Given the description of an element on the screen output the (x, y) to click on. 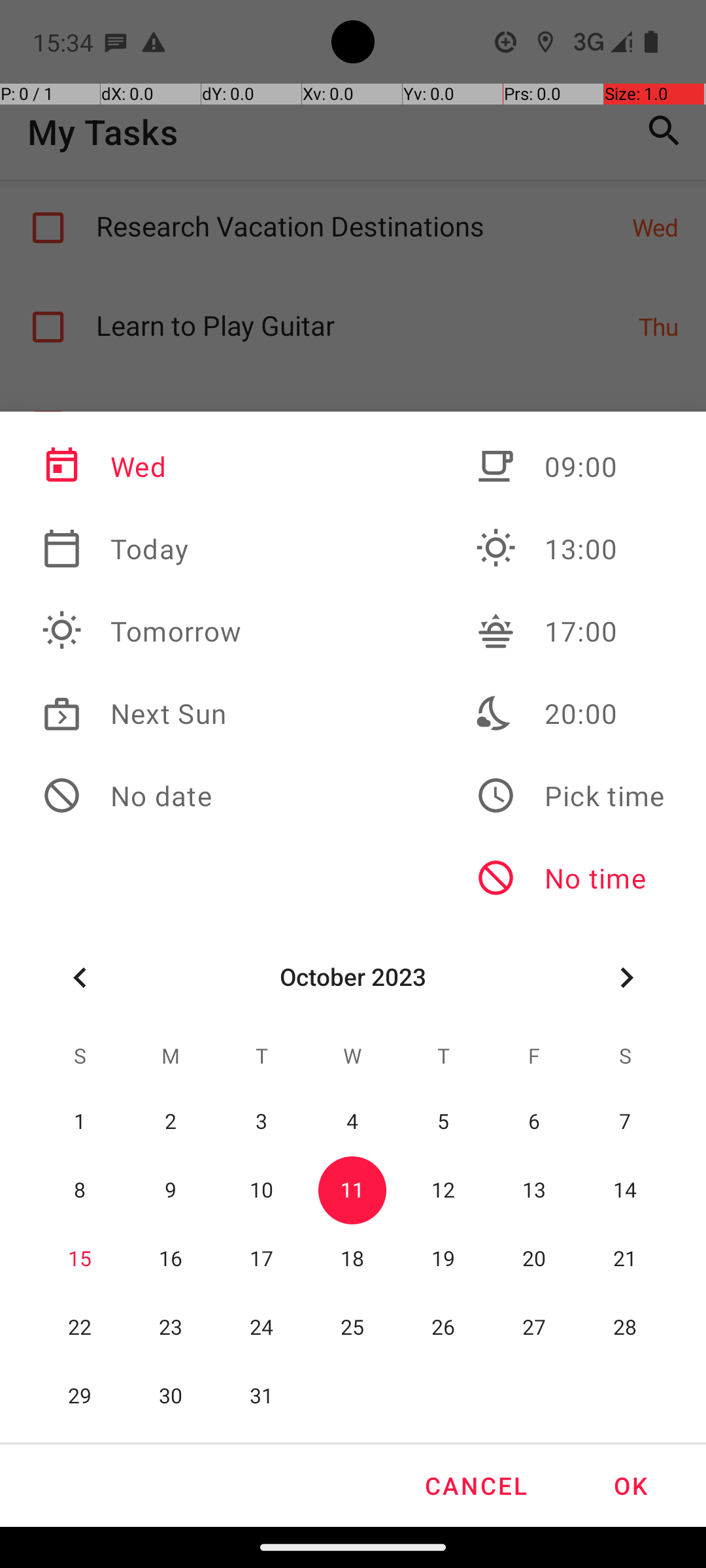
Wed Element type: android.widget.CompoundButton (141, 466)
Tomorrow Element type: android.widget.CompoundButton (141, 630)
Next Sun Element type: android.widget.CompoundButton (141, 713)
No date Element type: android.widget.CompoundButton (141, 795)
20:00 Element type: android.widget.CompoundButton (569, 713)
No time Element type: android.widget.CompoundButton (569, 877)
